Given the description of an element on the screen output the (x, y) to click on. 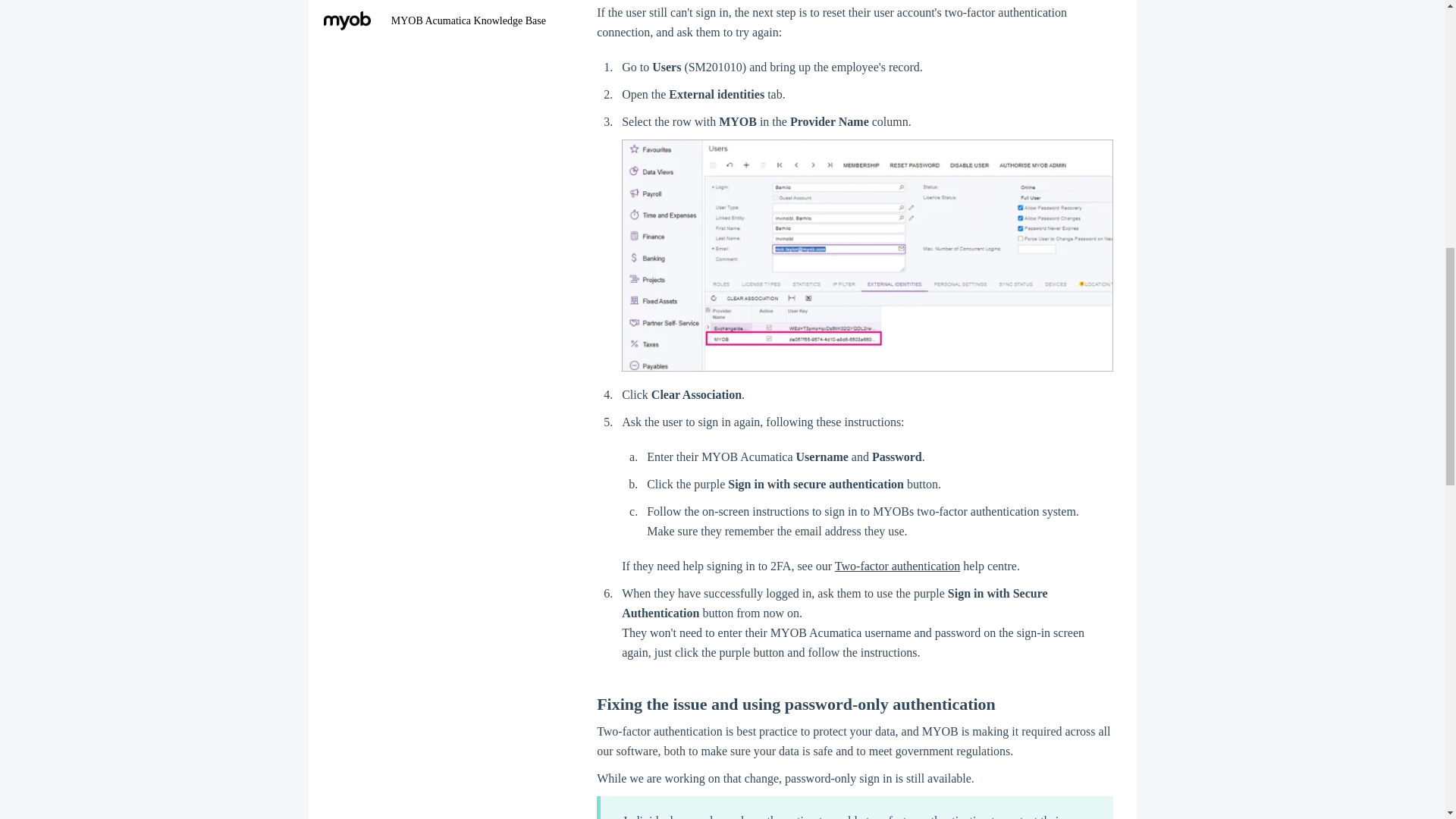
Two-factor authentication (896, 565)
